Given the description of an element on the screen output the (x, y) to click on. 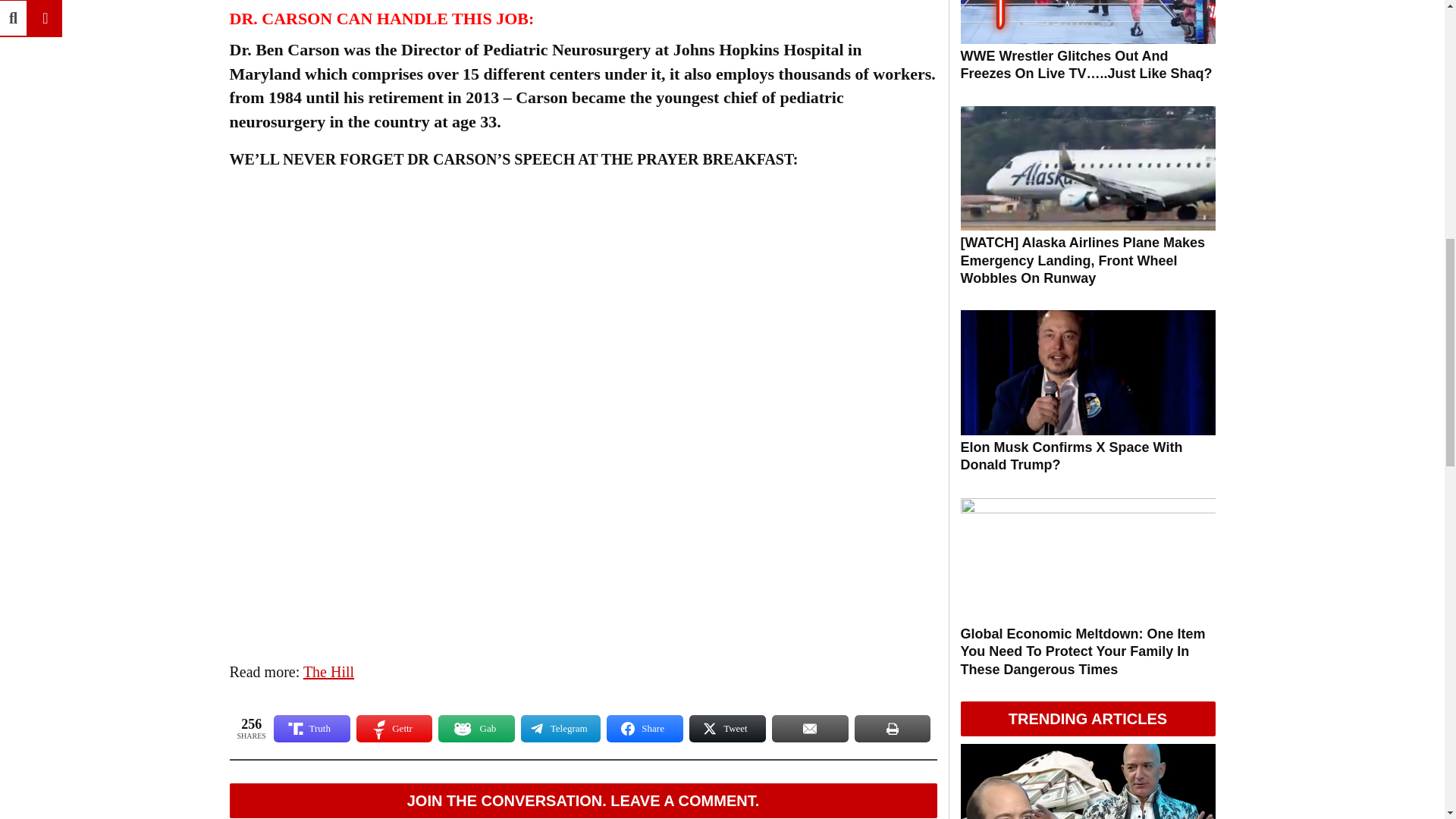
Share on Gab (476, 728)
Share on Tweet (726, 728)
The Hill (327, 671)
Share on Telegram (560, 728)
Share on Truth (311, 728)
Share on Share (644, 728)
Share on Gettr (394, 728)
